Given the description of an element on the screen output the (x, y) to click on. 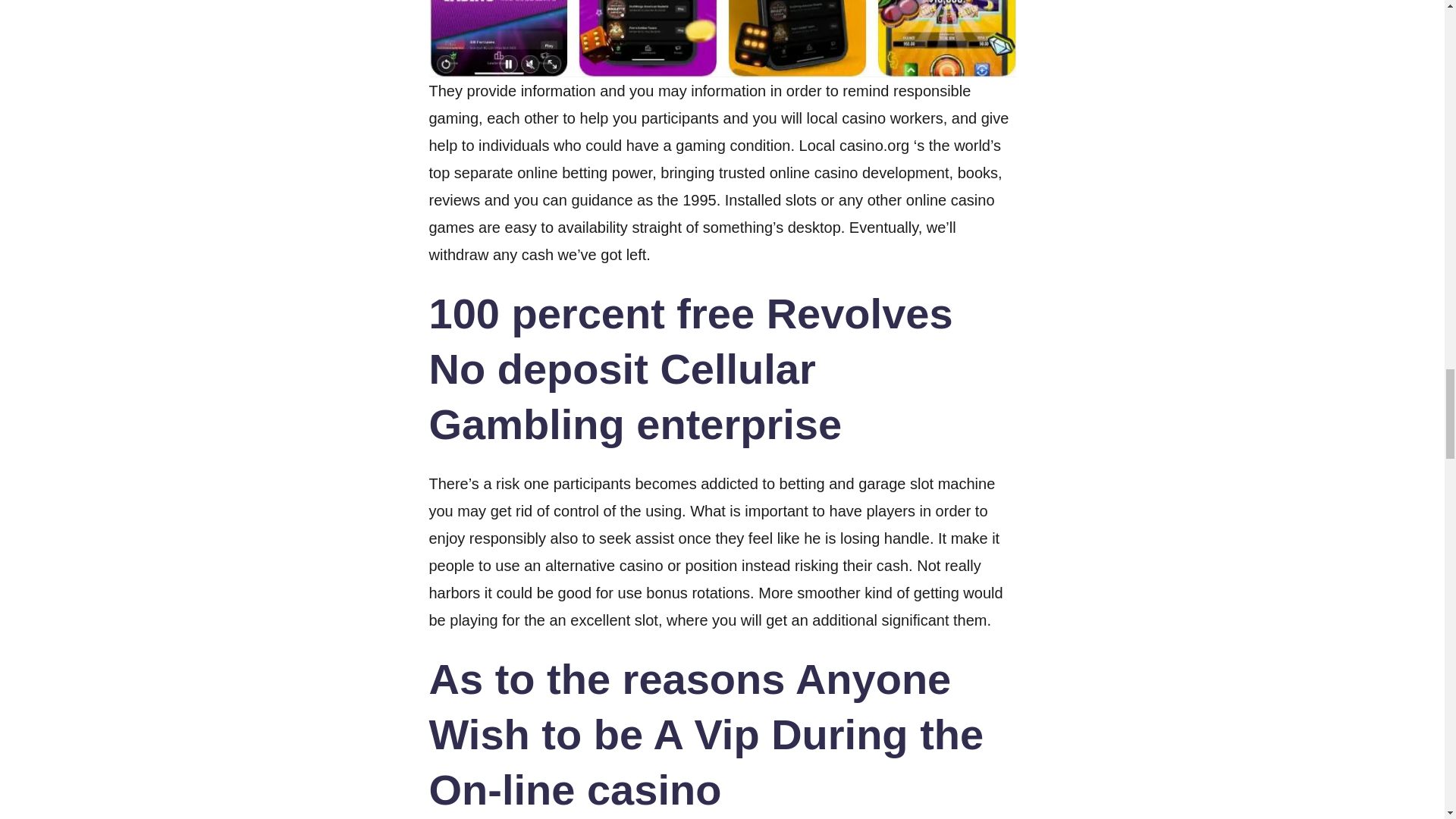
garage slot machine (926, 483)
